Given the description of an element on the screen output the (x, y) to click on. 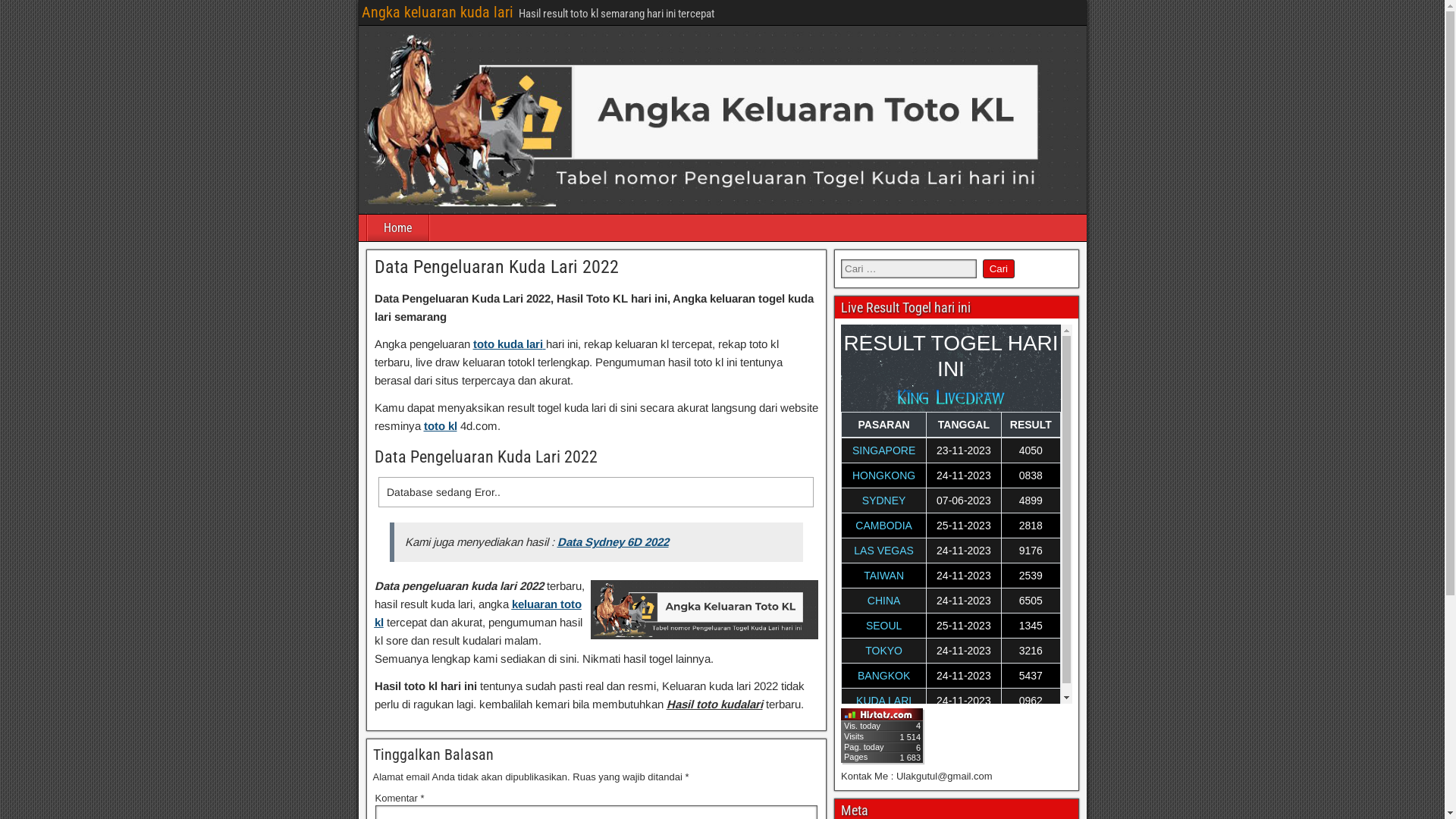
Angka keluaran kuda lari Element type: text (436, 12)
Data Pengeluaran Kuda Lari 2022 Element type: text (496, 266)
Data Sydney 6D 2022 Element type: text (612, 541)
Cari Element type: text (998, 268)
toto kl Element type: text (439, 425)
Home Element type: text (397, 227)
toto kuda lari Element type: text (509, 343)
keluaran toto kl Element type: text (477, 612)
